Given the description of an element on the screen output the (x, y) to click on. 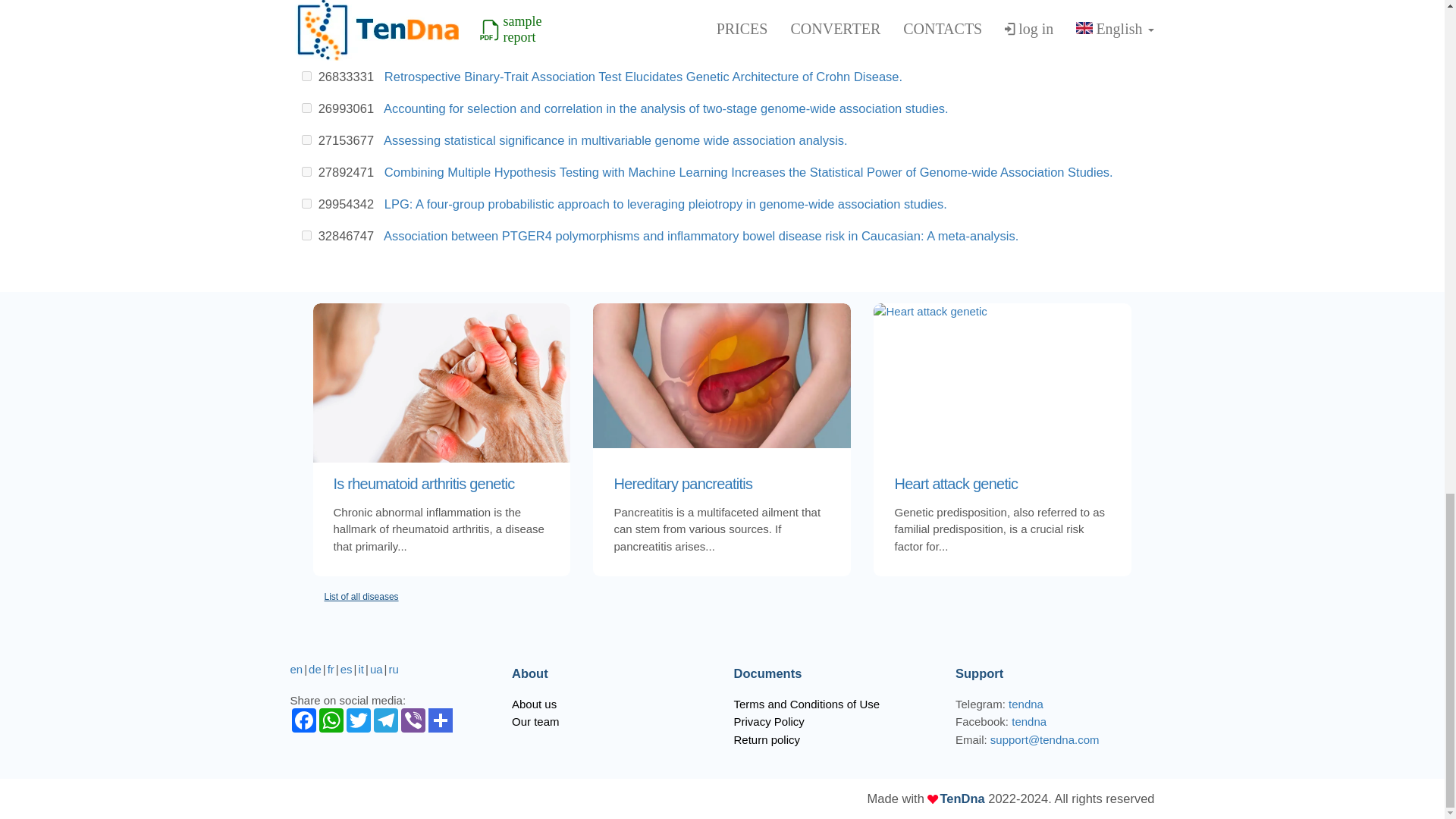
27153677 (306, 139)
27892471 (306, 171)
29954342 (306, 203)
Hereditary pancreatitis (720, 484)
26993061 (306, 108)
26833331 (306, 76)
Is rheumatoid arthritis genetic (441, 484)
